Given the description of an element on the screen output the (x, y) to click on. 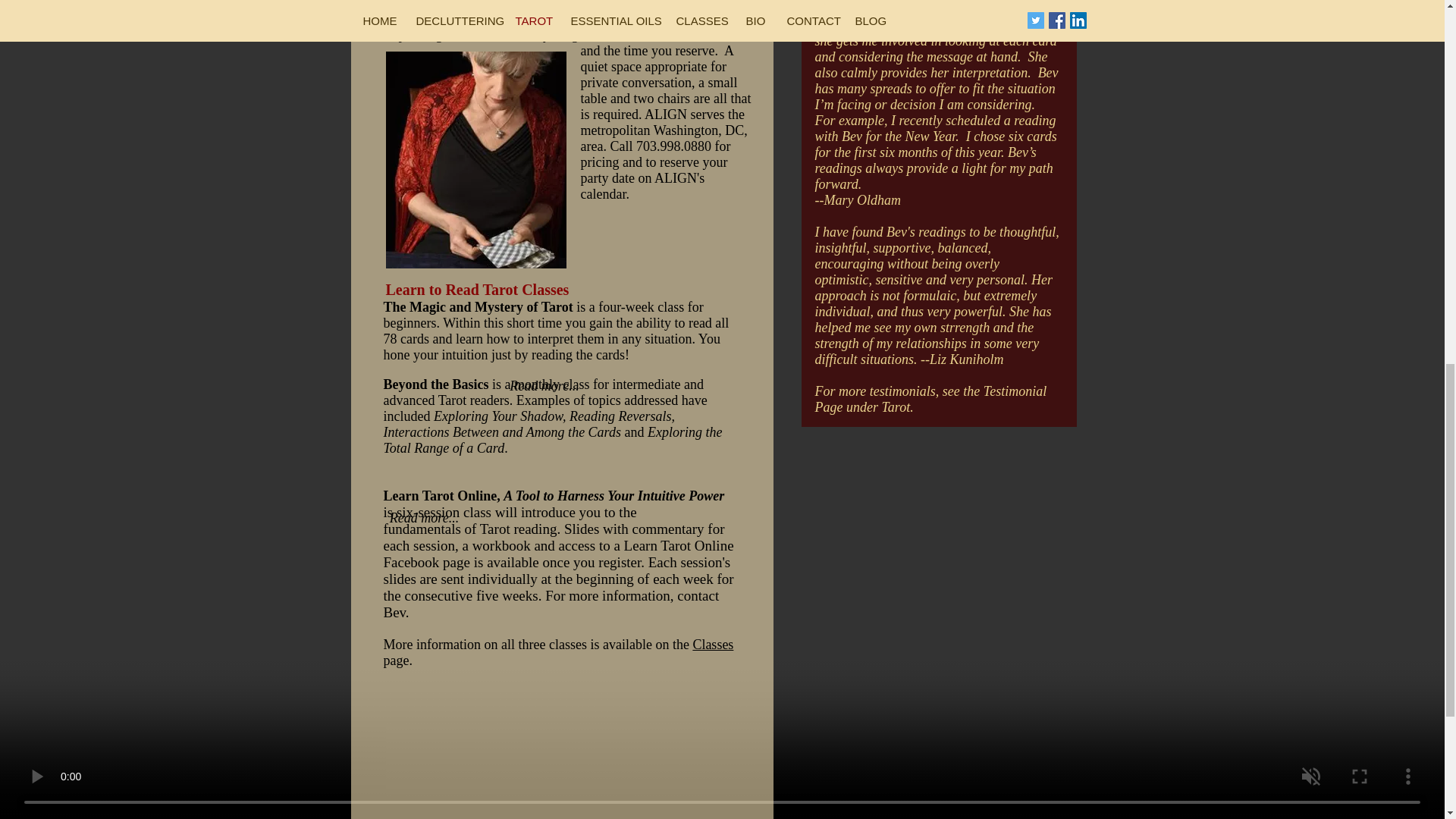
Read more... (424, 518)
Classes (713, 644)
Read more... (544, 386)
